Given the description of an element on the screen output the (x, y) to click on. 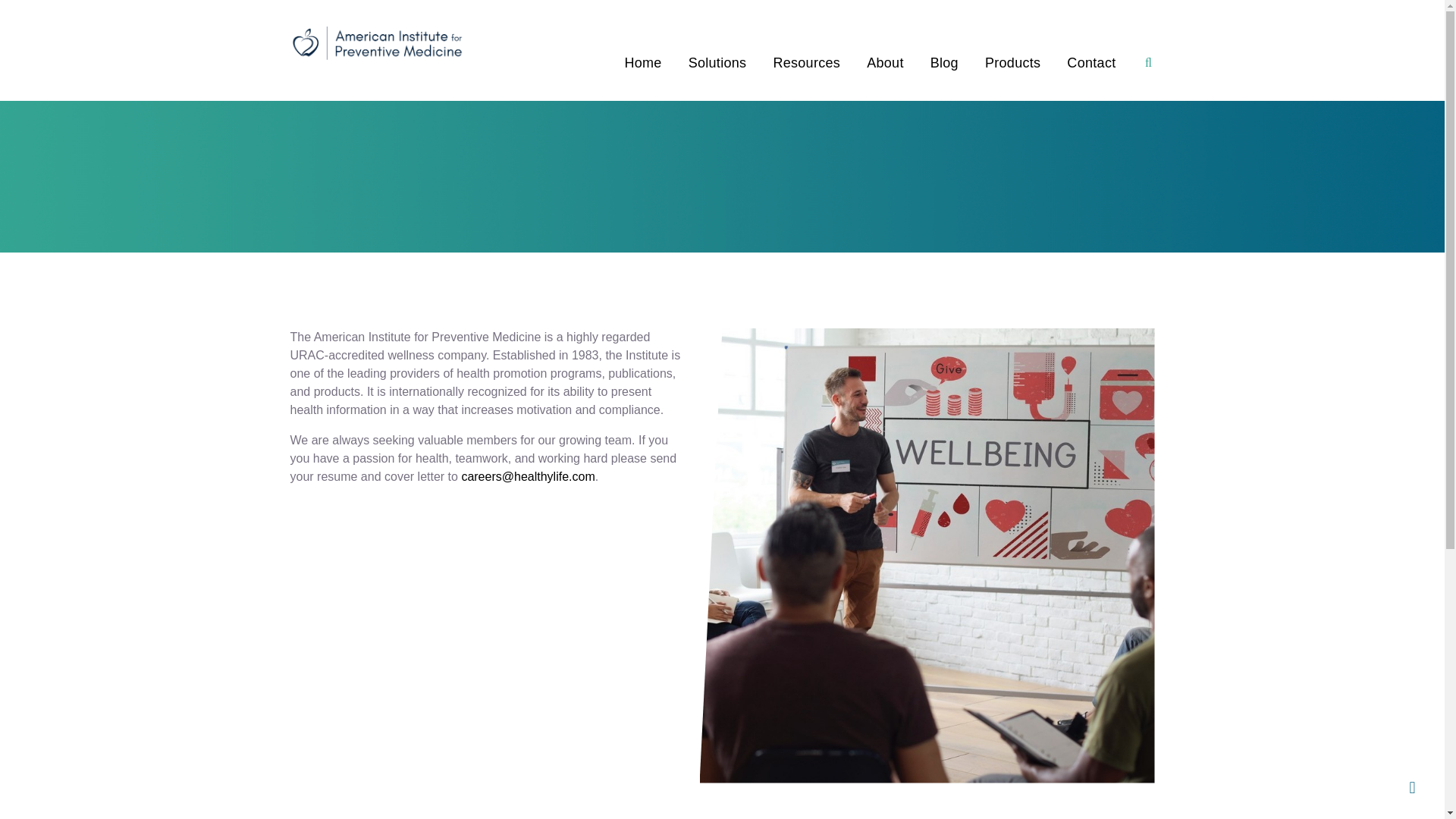
About (885, 62)
Solutions (717, 62)
Home (642, 62)
Resources (806, 62)
